Given the description of an element on the screen output the (x, y) to click on. 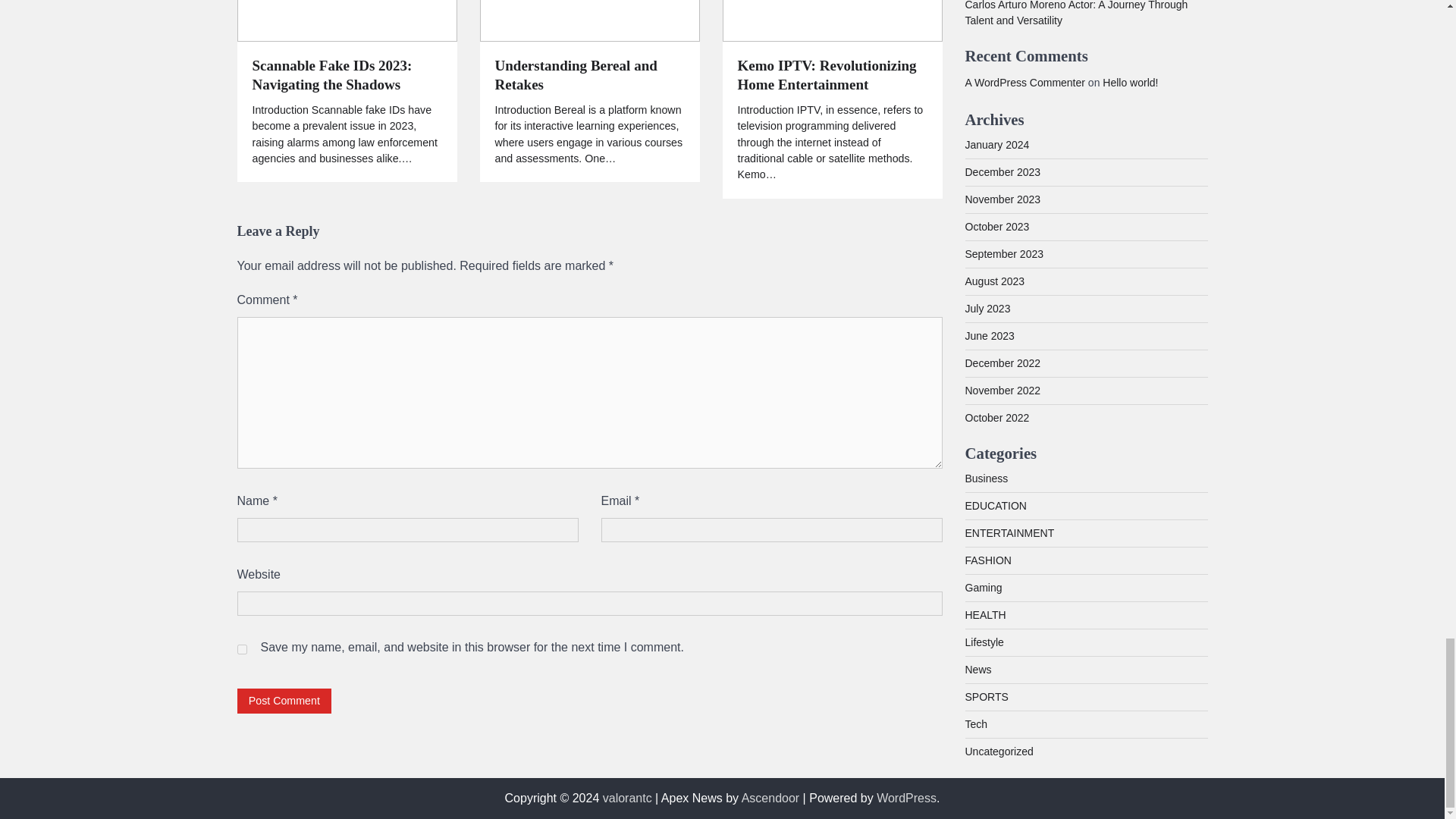
Post Comment (283, 700)
Post Comment (283, 700)
Kemo IPTV: Revolutionizing Home Entertainment (831, 75)
yes (240, 649)
Understanding Bereal and Retakes (589, 75)
Scannable Fake IDs 2023: Navigating the Shadows (346, 75)
